Given the description of an element on the screen output the (x, y) to click on. 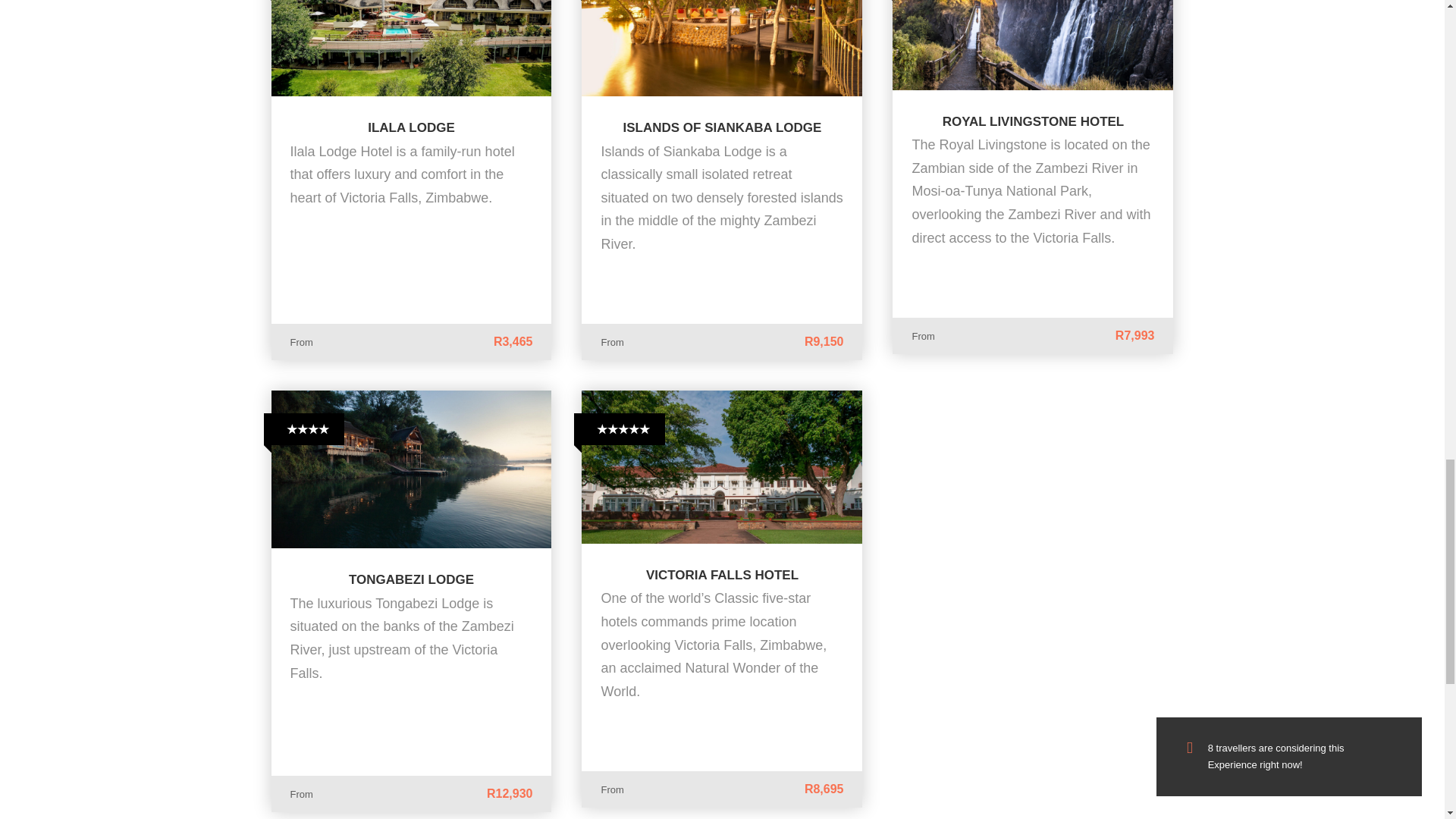
ISLANDS OF SIANKABA LODGE (722, 127)
ILALA LODGE (411, 127)
